Given the description of an element on the screen output the (x, y) to click on. 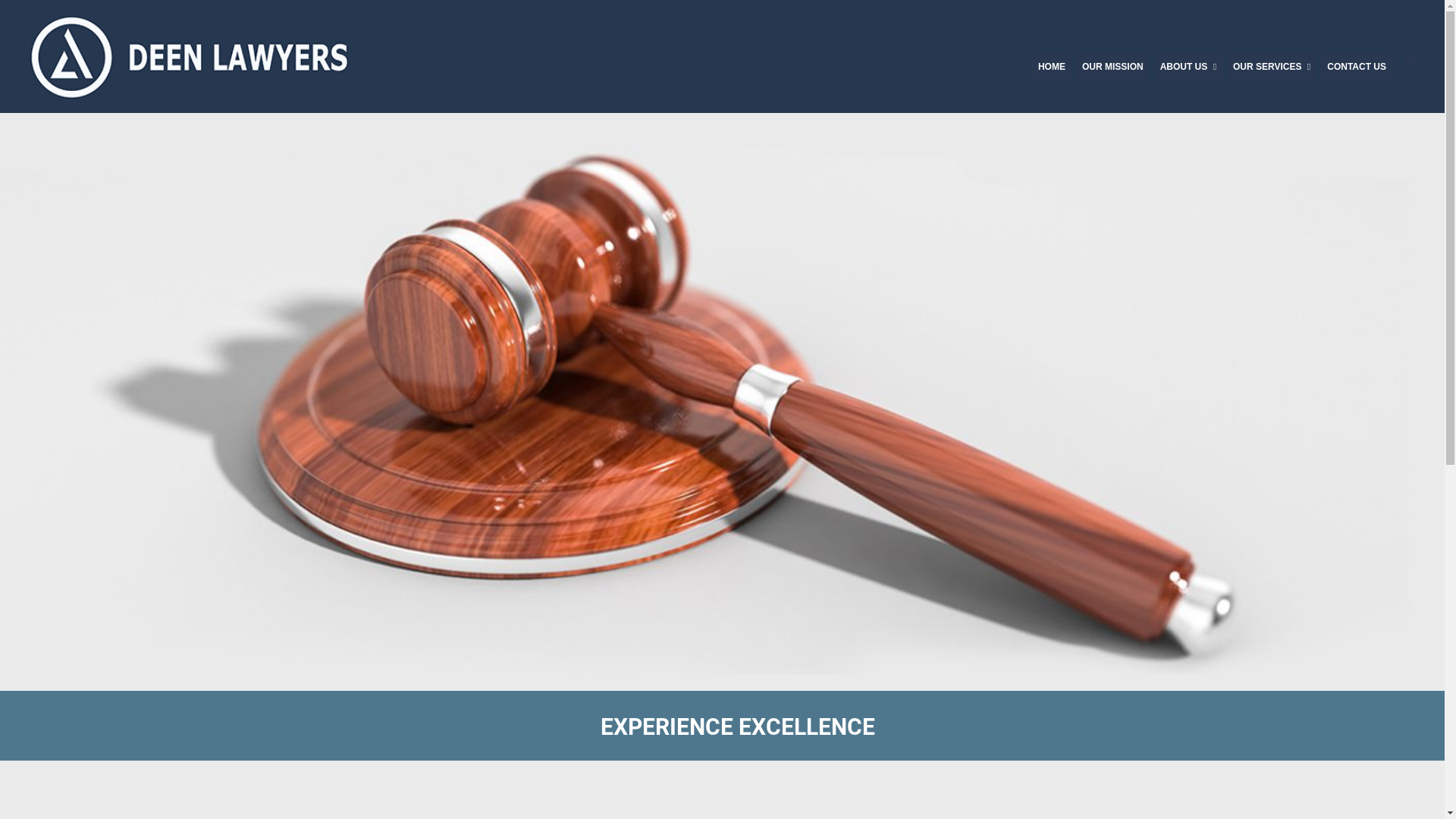
HOME Element type: text (1051, 66)
OUR SERVICES Element type: text (1271, 66)
OUR MISSION Element type: text (1112, 66)
CONTACT US Element type: text (1356, 66)
Skip to primary navigation Element type: text (0, 0)
Deen Lawyers Element type: hover (193, 56)
ABOUT US Element type: text (1187, 66)
